Given the description of an element on the screen output the (x, y) to click on. 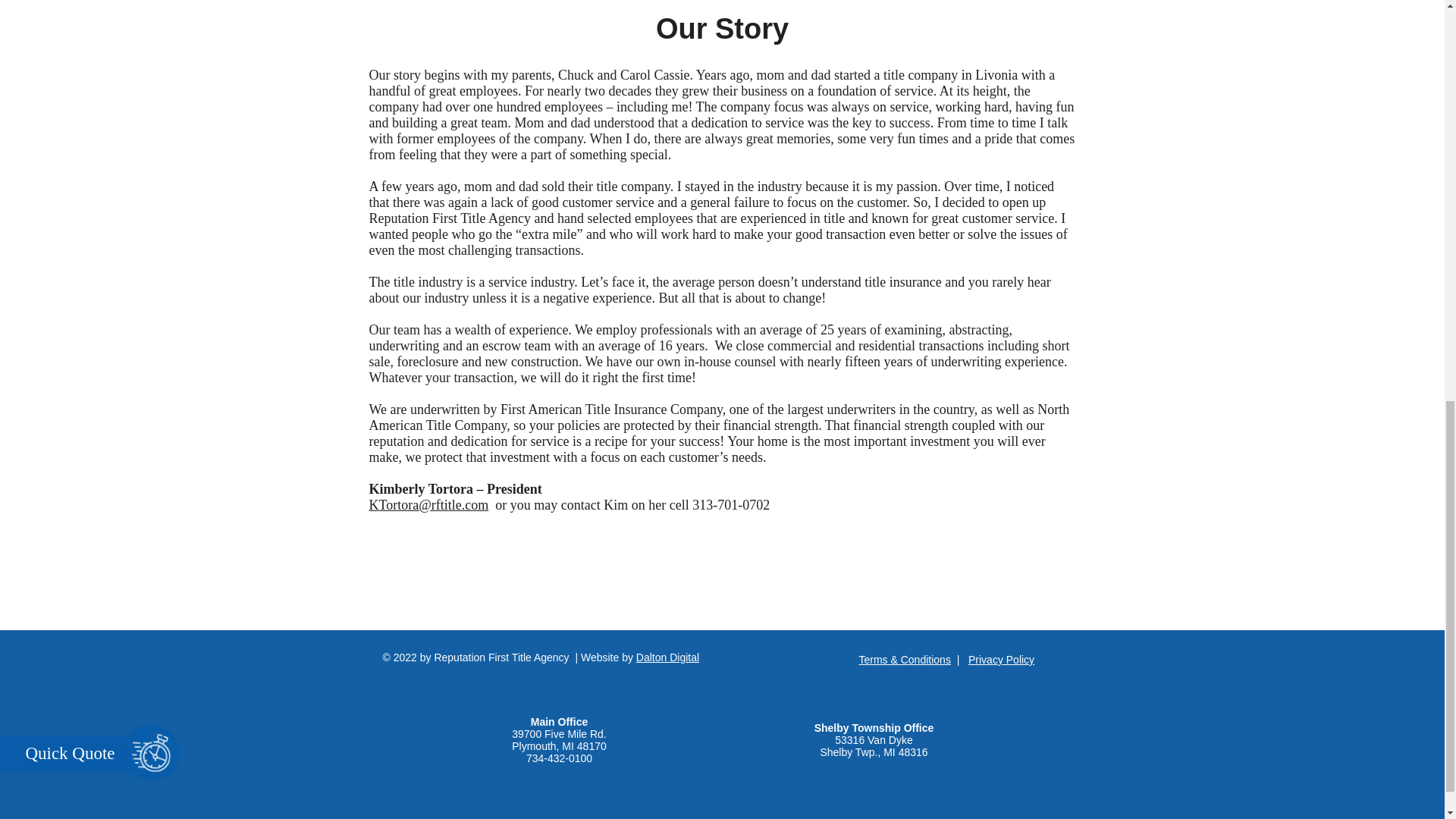
Dalton Digital (667, 657)
Privacy Policy (1000, 659)
